Given the description of an element on the screen output the (x, y) to click on. 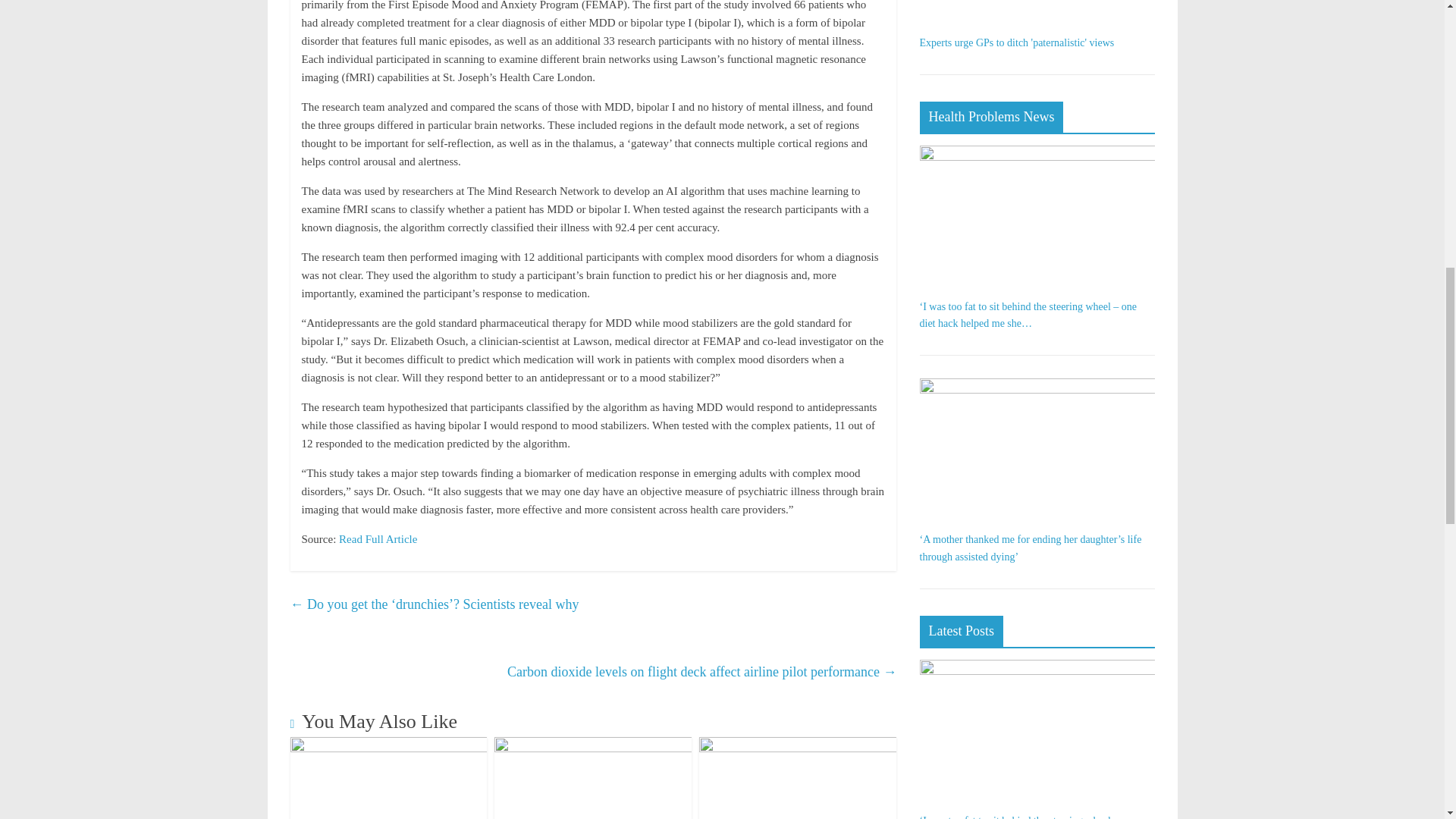
Read Full Article (377, 539)
